Given the description of an element on the screen output the (x, y) to click on. 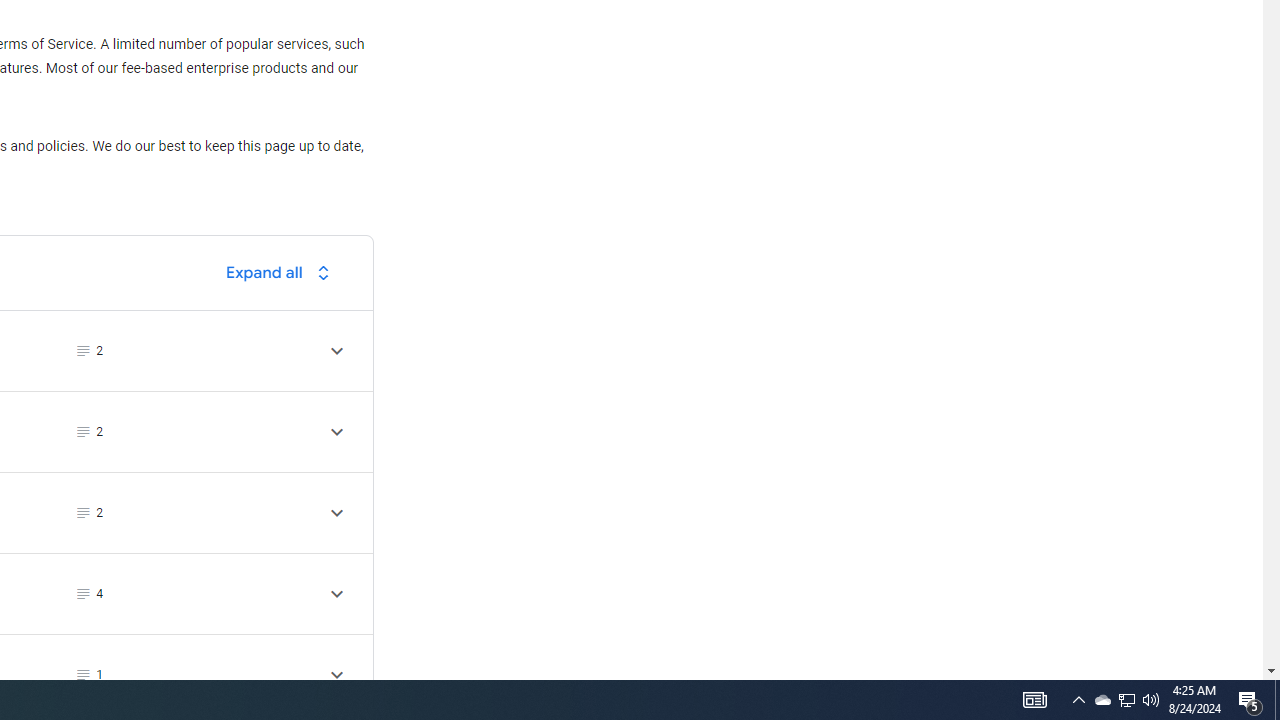
Expand all (283, 272)
